Given the description of an element on the screen output the (x, y) to click on. 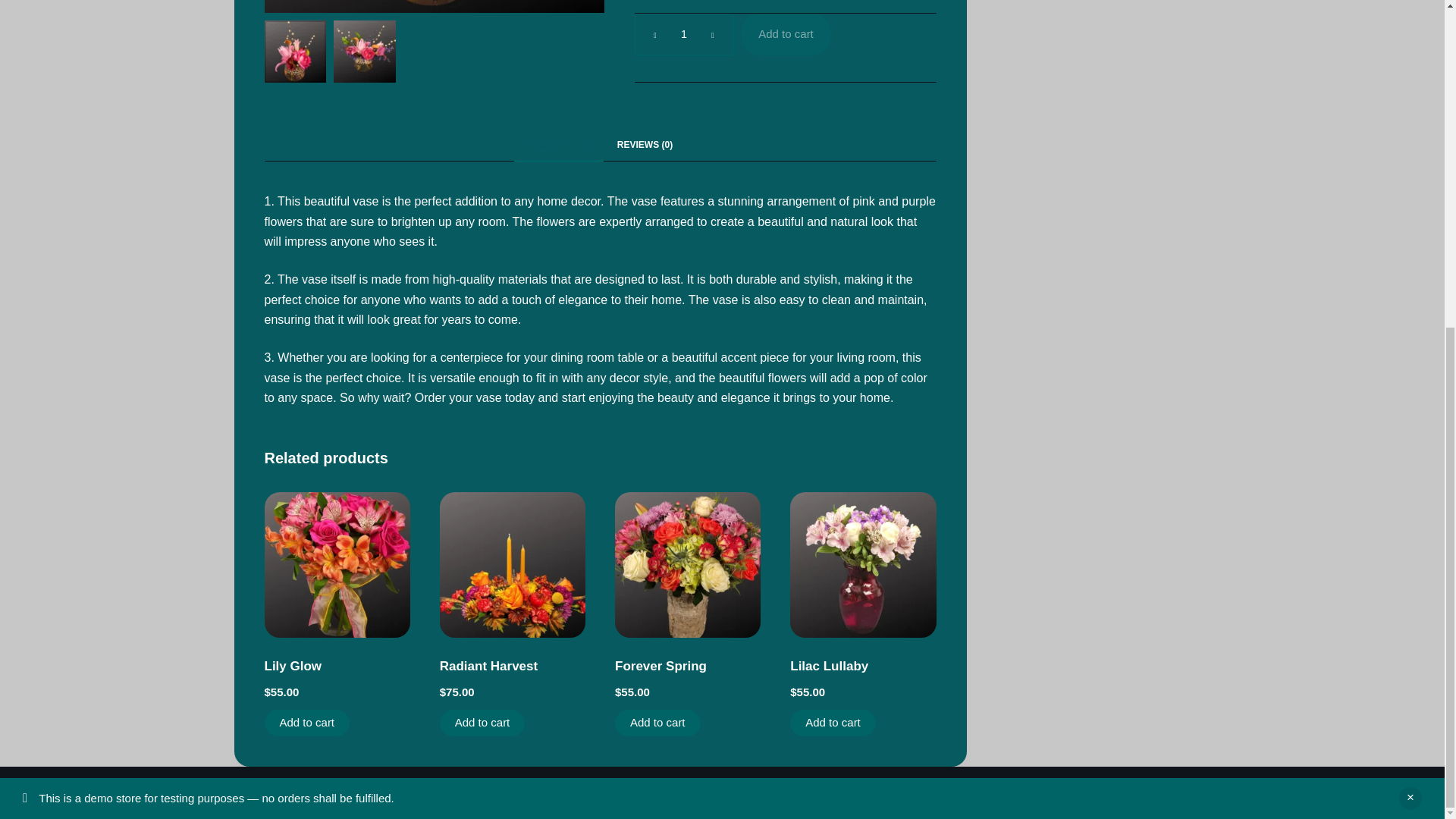
FascinationNew (294, 27)
Forever Spring (679, 556)
Add to cart (833, 723)
FascinationNew1 (364, 27)
Add to cart (786, 34)
Forever Spring (660, 666)
Add to cart (306, 723)
Dismiss (1410, 259)
Radiant Harvest 1 (505, 556)
DESCRIPTION (558, 143)
